Given the description of an element on the screen output the (x, y) to click on. 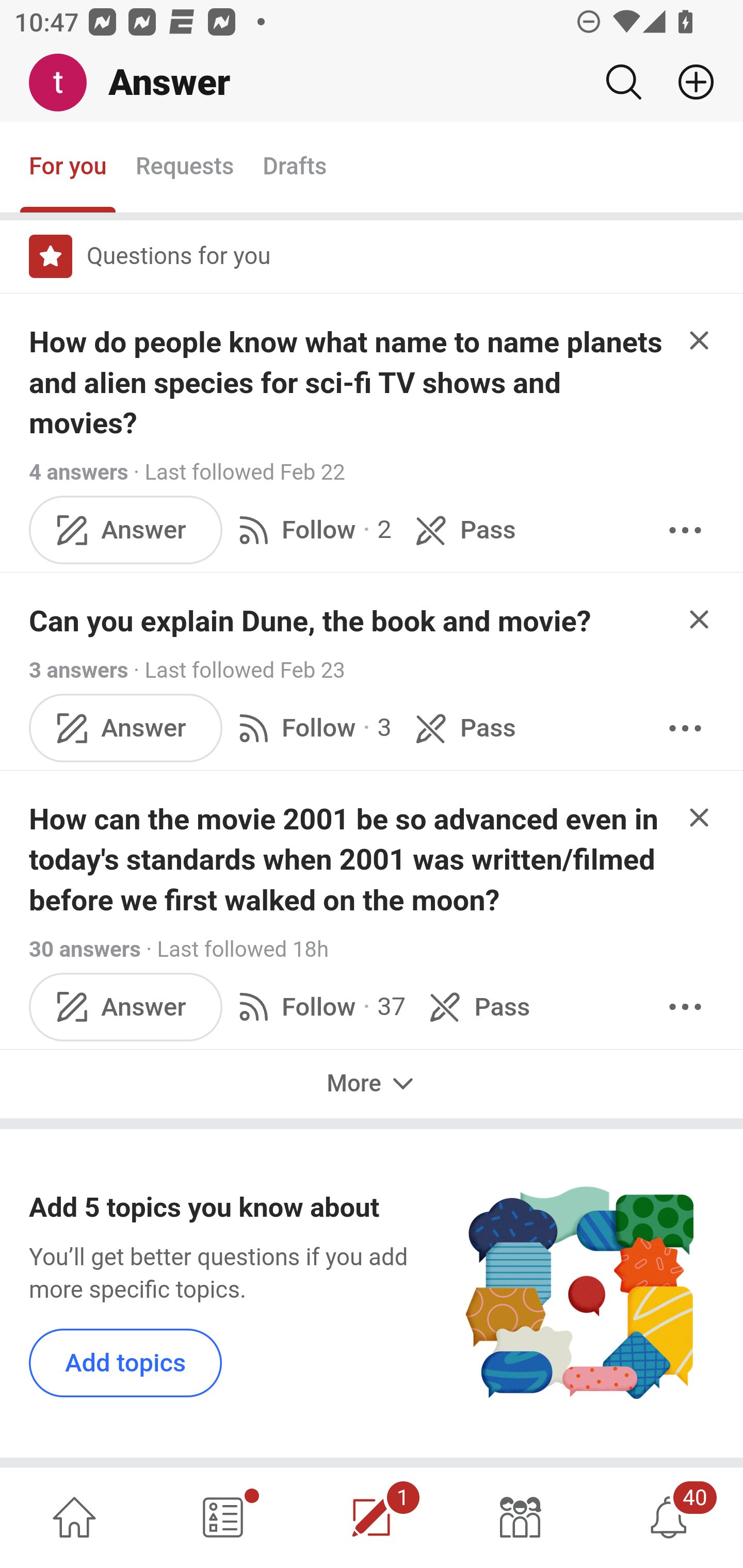
Me (64, 83)
Search (623, 82)
Add (688, 82)
For you (68, 167)
Requests (183, 167)
Drafts (295, 167)
Hide (699, 340)
Answer (125, 530)
Follow · 2 (311, 530)
Pass (461, 530)
More (684, 530)
Hide (699, 618)
Can you explain Dune, the book and movie? (310, 621)
Answer (125, 728)
Follow · 3 (311, 728)
Pass (461, 728)
More (684, 728)
Hide (699, 817)
Answer (125, 1007)
Follow · 37 (317, 1007)
Pass (476, 1007)
More (684, 1007)
More (371, 1083)
Add topics (125, 1362)
40 (668, 1517)
